Given the description of an element on the screen output the (x, y) to click on. 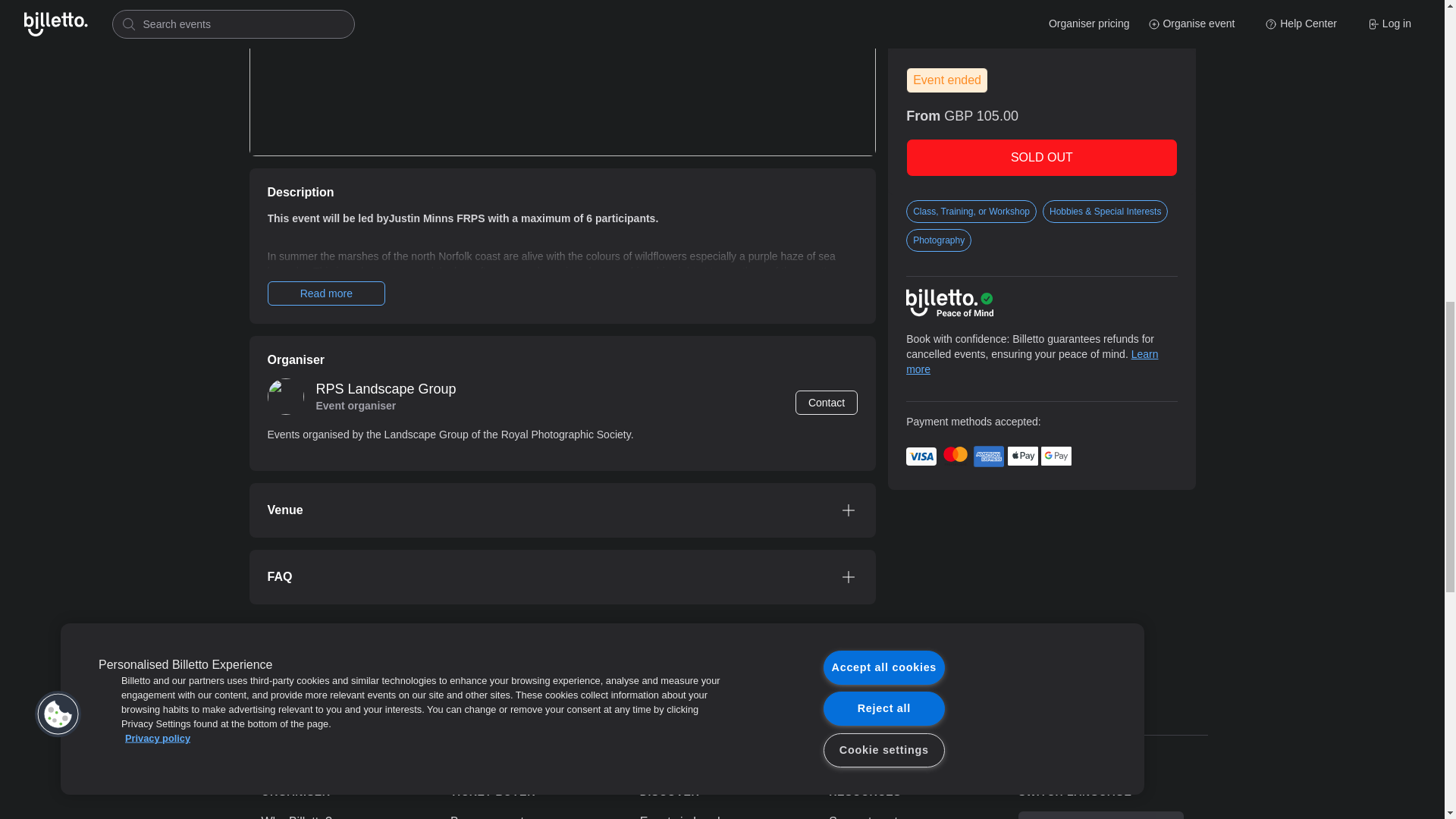
Read more (325, 293)
Contact (825, 402)
translation missing: en.event.form.details.tags (917, 182)
